Given the description of an element on the screen output the (x, y) to click on. 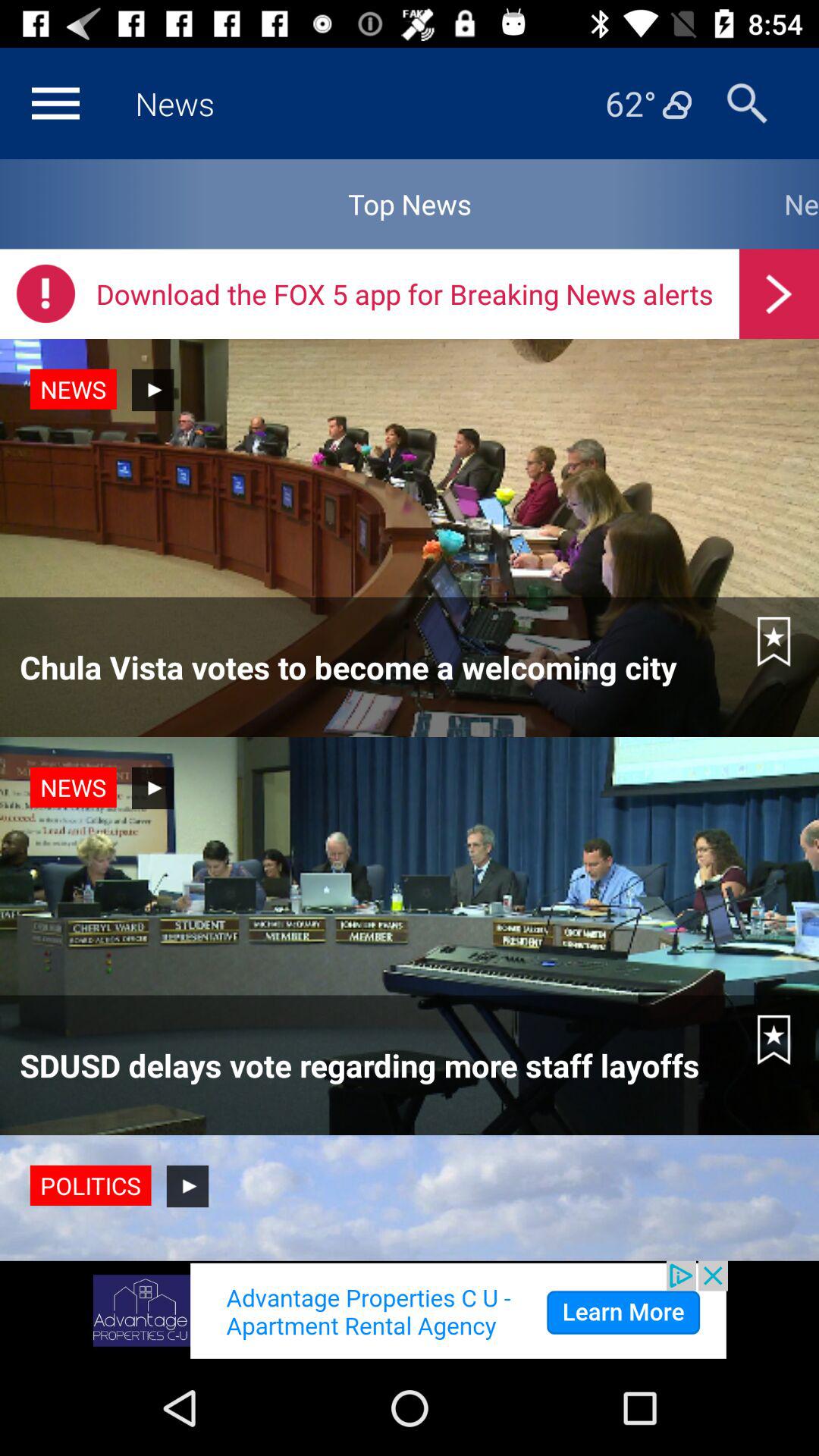
menu button (55, 103)
